Given the description of an element on the screen output the (x, y) to click on. 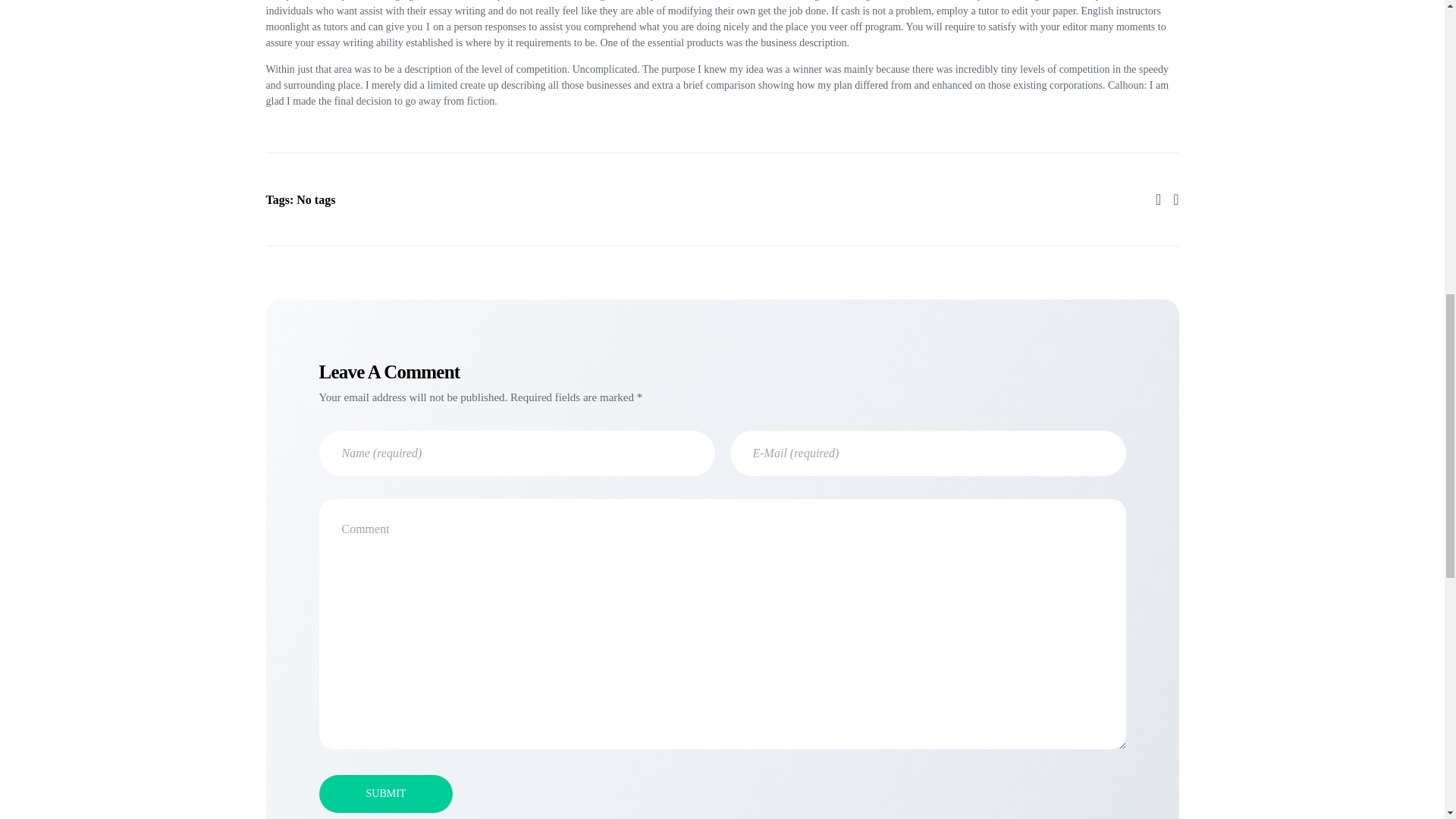
Submit (385, 793)
Submit (385, 793)
